Given the description of an element on the screen output the (x, y) to click on. 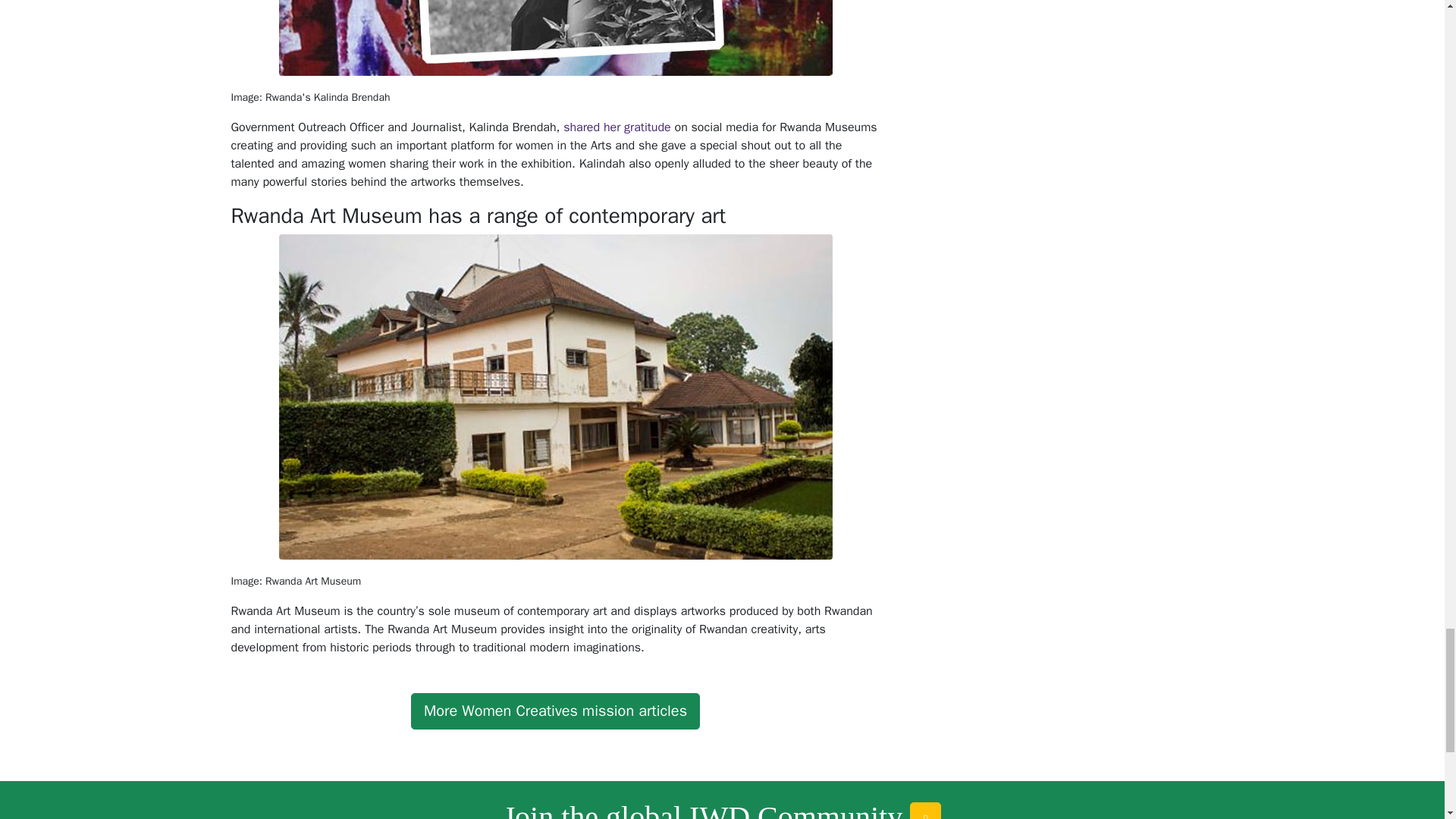
More Women Creatives mission articles (555, 710)
shared her gratitude (617, 127)
